Given the description of an element on the screen output the (x, y) to click on. 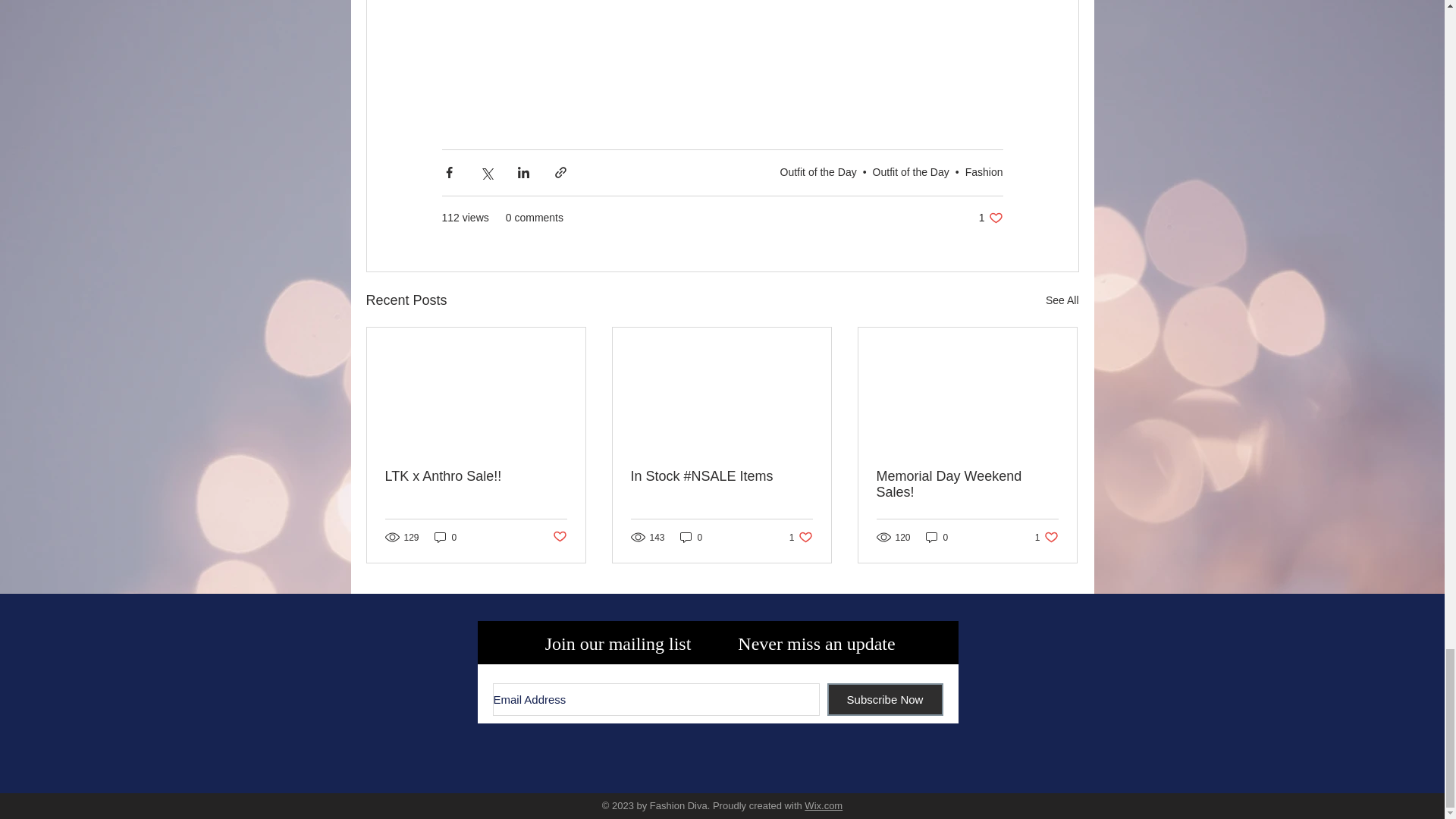
0 (1046, 536)
Outfit of the Day (691, 536)
Post not marked as liked (818, 172)
Subscribe Now (800, 536)
LTK x Anthro Sale!! (558, 537)
Wix.com (884, 699)
0 (476, 476)
Outfit of the Day (990, 217)
See All (824, 805)
Fashion (937, 536)
0 (910, 172)
Memorial Day Weekend Sales! (1061, 300)
